Given the description of an element on the screen output the (x, y) to click on. 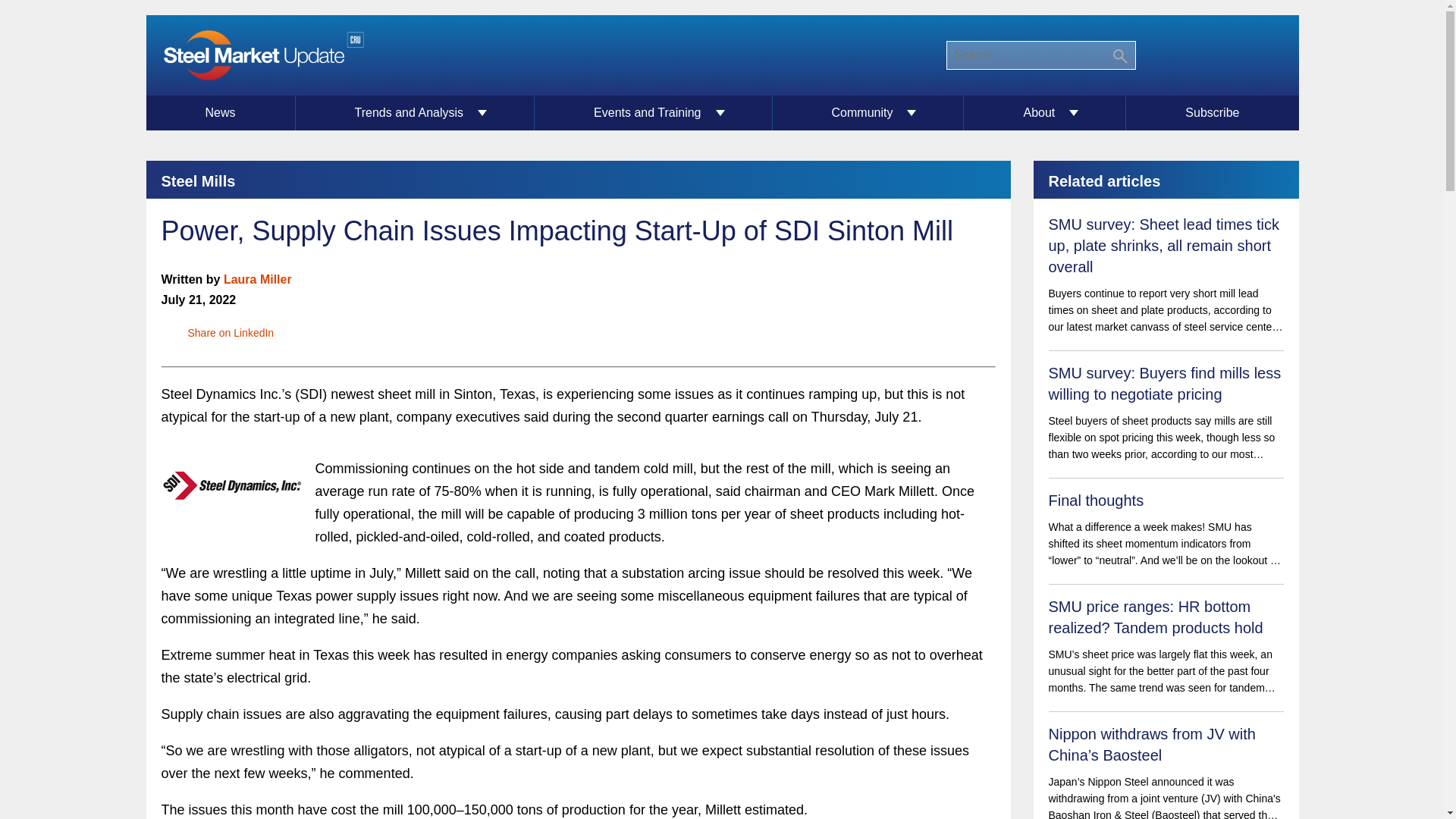
Home (262, 55)
News (220, 112)
Trends and Analysis (415, 112)
